Given the description of an element on the screen output the (x, y) to click on. 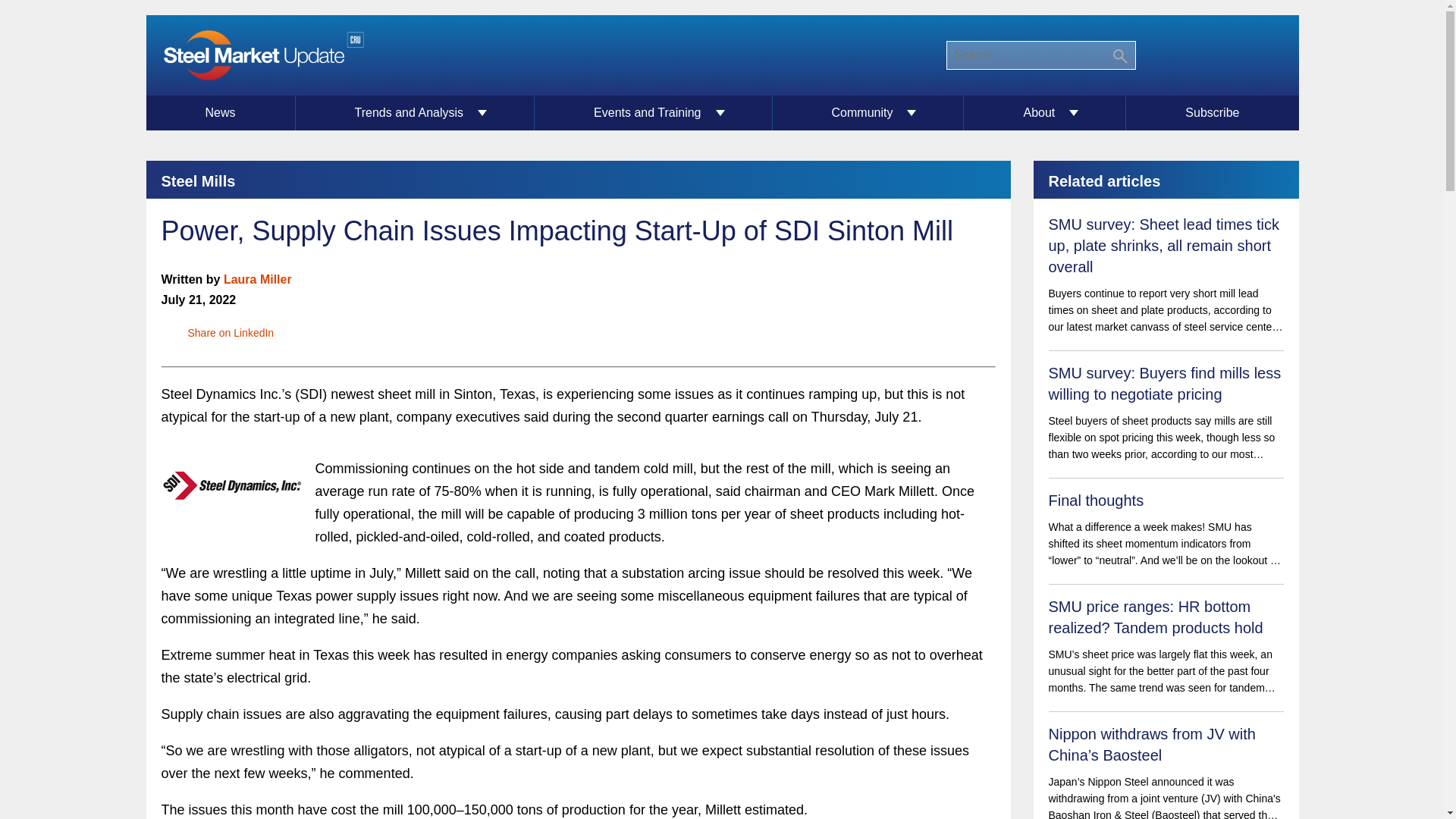
Home (262, 55)
News (220, 112)
Trends and Analysis (415, 112)
